Given the description of an element on the screen output the (x, y) to click on. 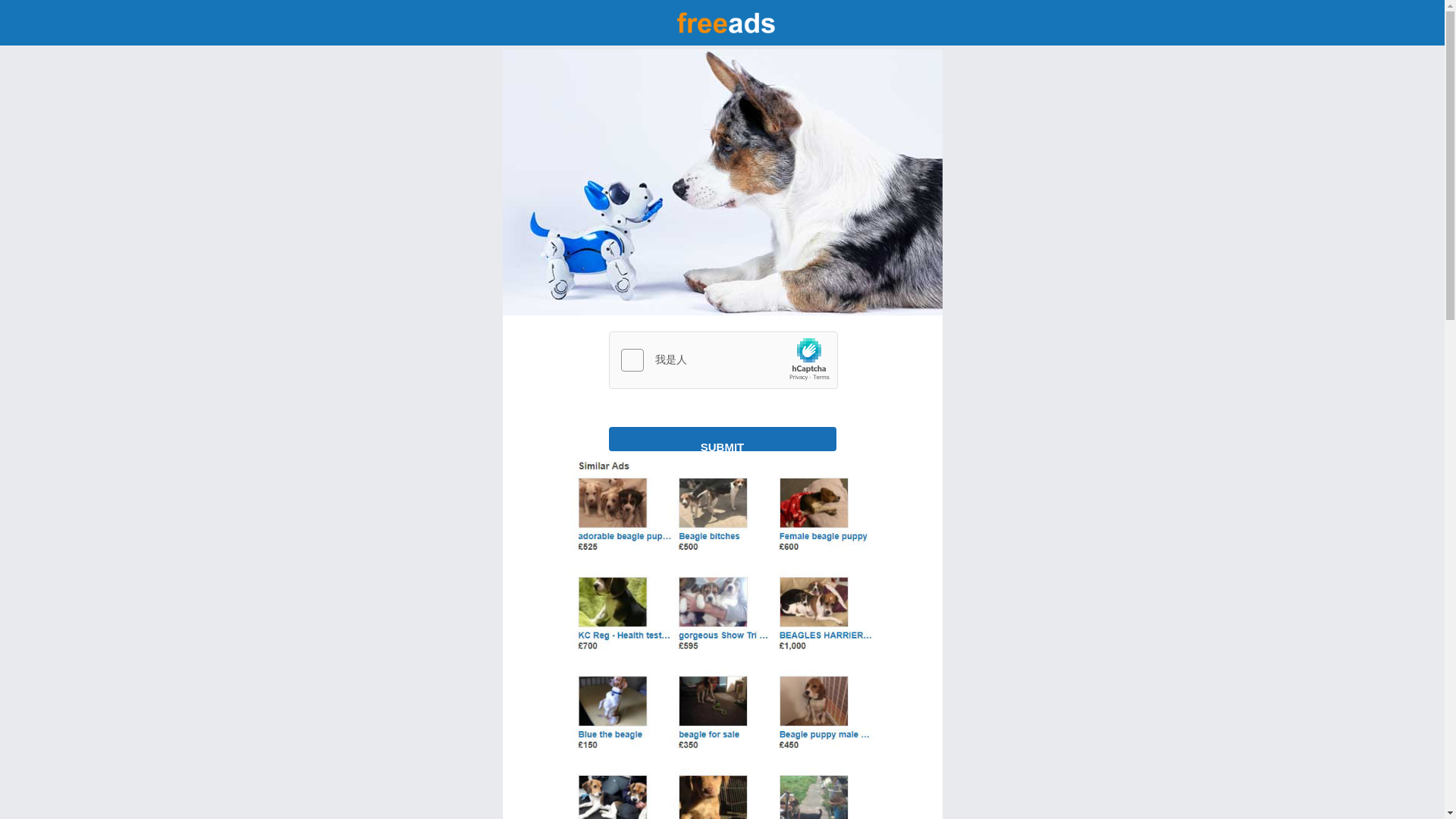
Widget containing checkbox for hCaptcha security challenge (723, 360)
Submit (721, 438)
Submit (721, 438)
